Given the description of an element on the screen output the (x, y) to click on. 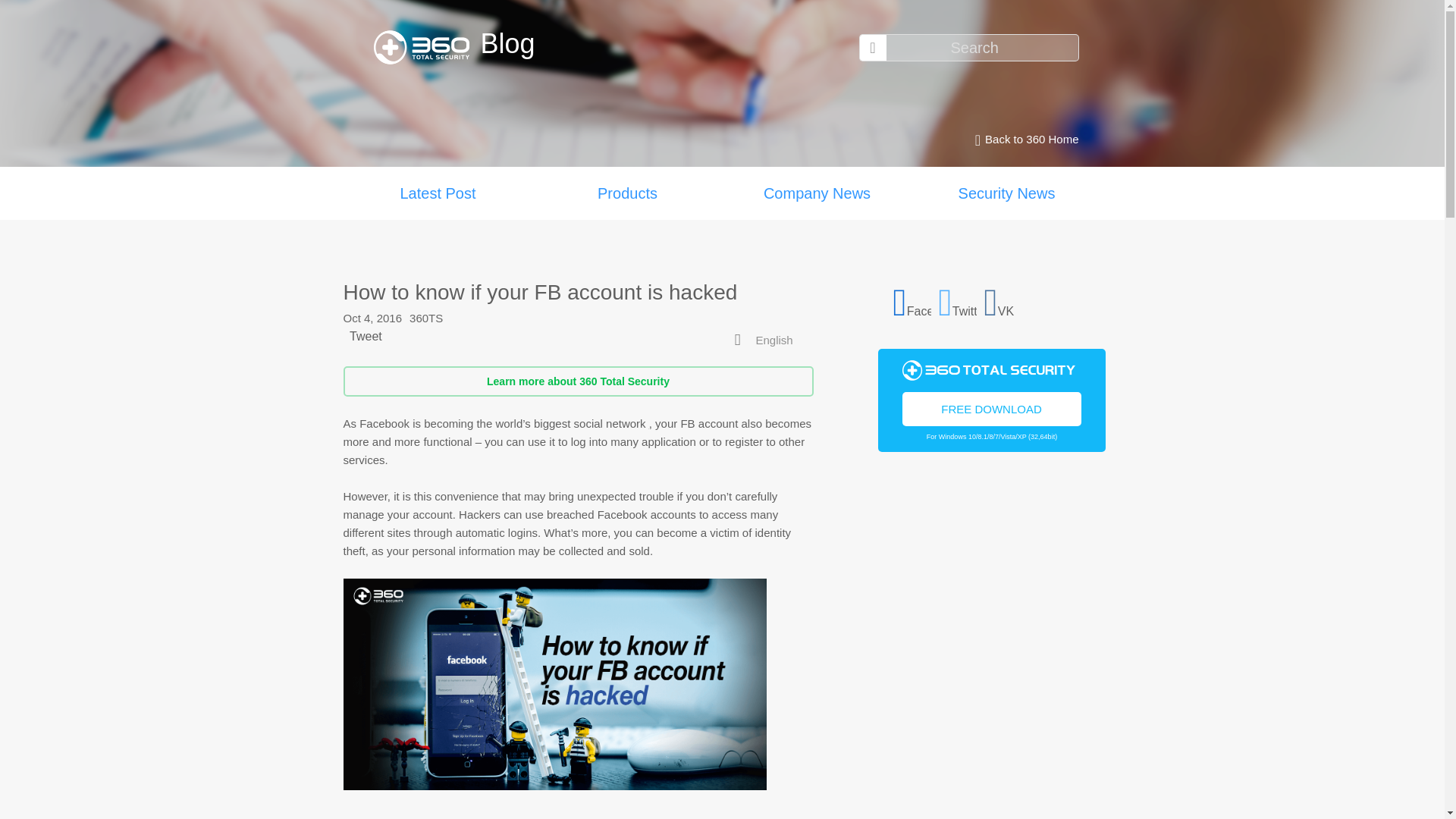
Facebook (912, 299)
Products (627, 193)
Learn more about 360 Total Security (577, 381)
Latest Post (437, 193)
Free Download (991, 408)
Security News (1005, 193)
FREE DOWNLOAD (991, 408)
Back to 360 Home (1022, 140)
Tweet (365, 336)
Advertisement (991, 650)
360 Total Security Blog Logo (426, 47)
Twitter (957, 299)
Company News (816, 193)
Learn more about 360 Total Security (577, 381)
VK (1003, 299)
